Given the description of an element on the screen output the (x, y) to click on. 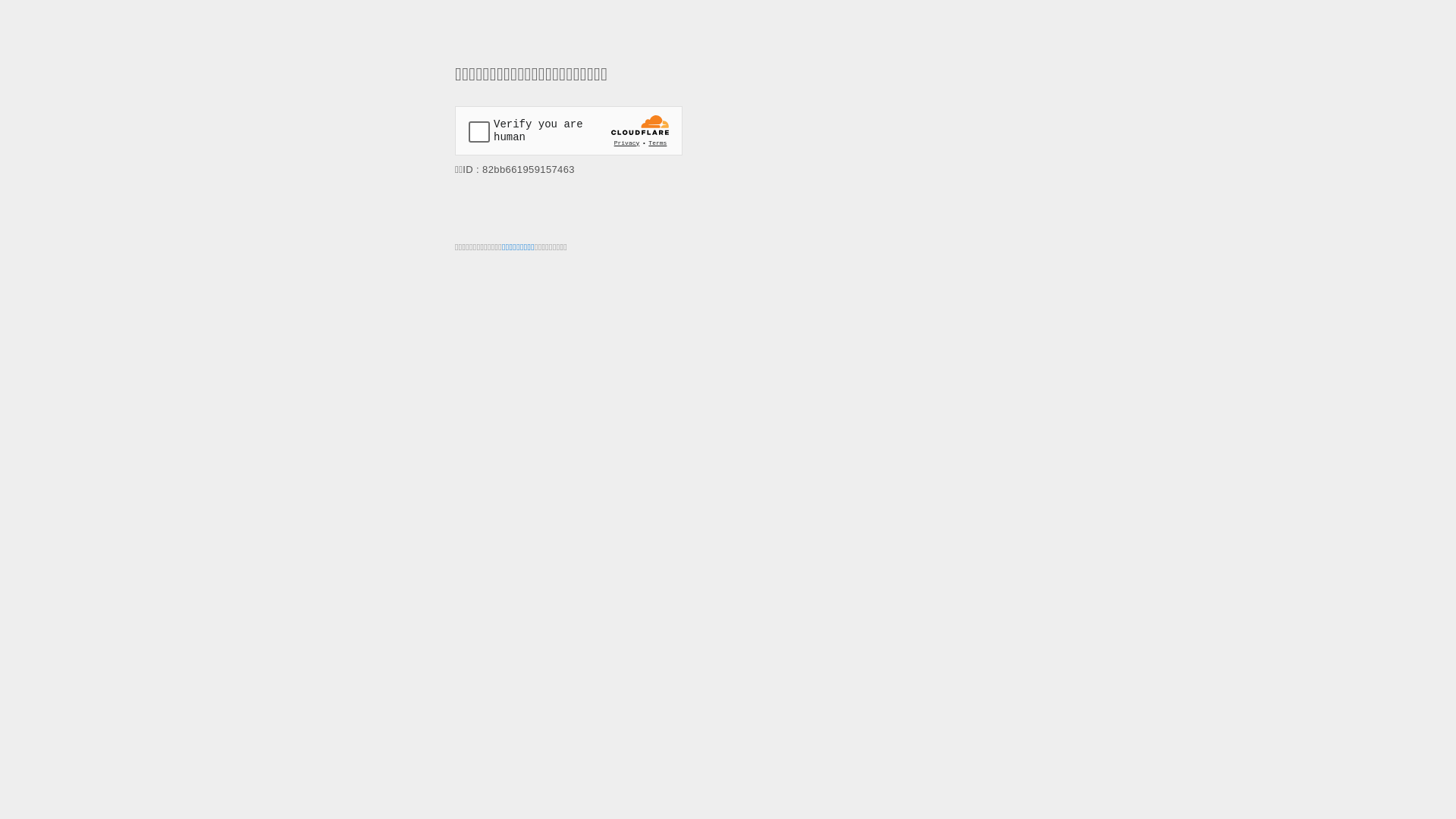
Widget containing a Cloudflare security challenge Element type: hover (568, 130)
